Given the description of an element on the screen output the (x, y) to click on. 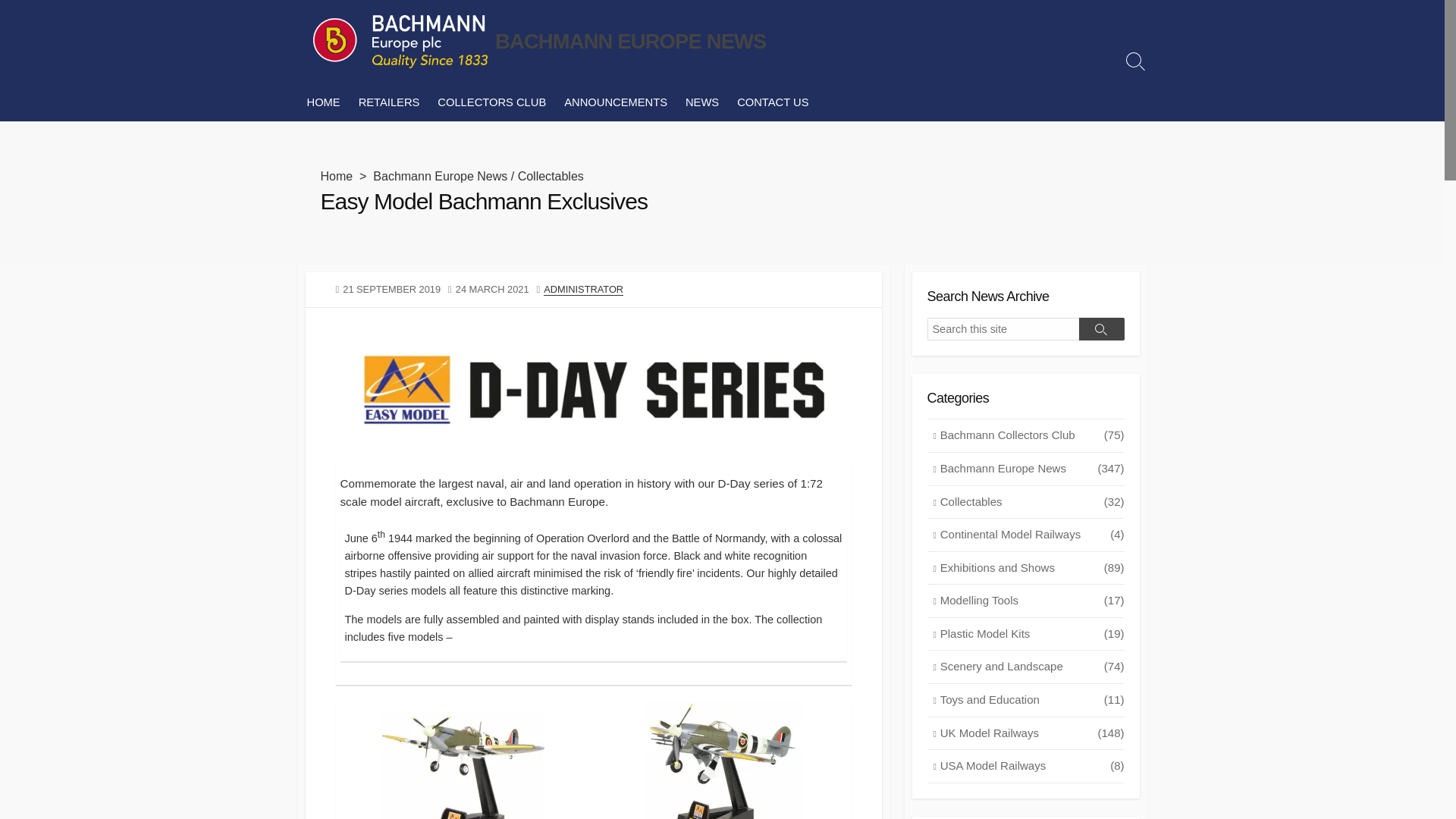
Home (336, 175)
BACHMANN EUROPE NEWS (631, 41)
HOME (323, 102)
BACHMANN EUROPE NEWS (631, 41)
BACHMANN EUROPE NEWS (399, 41)
RETAILERS (389, 102)
ANNOUNCEMENTS (615, 102)
ADMINISTRATOR (583, 288)
Collectables (550, 175)
NEWS (702, 102)
